Given the description of an element on the screen output the (x, y) to click on. 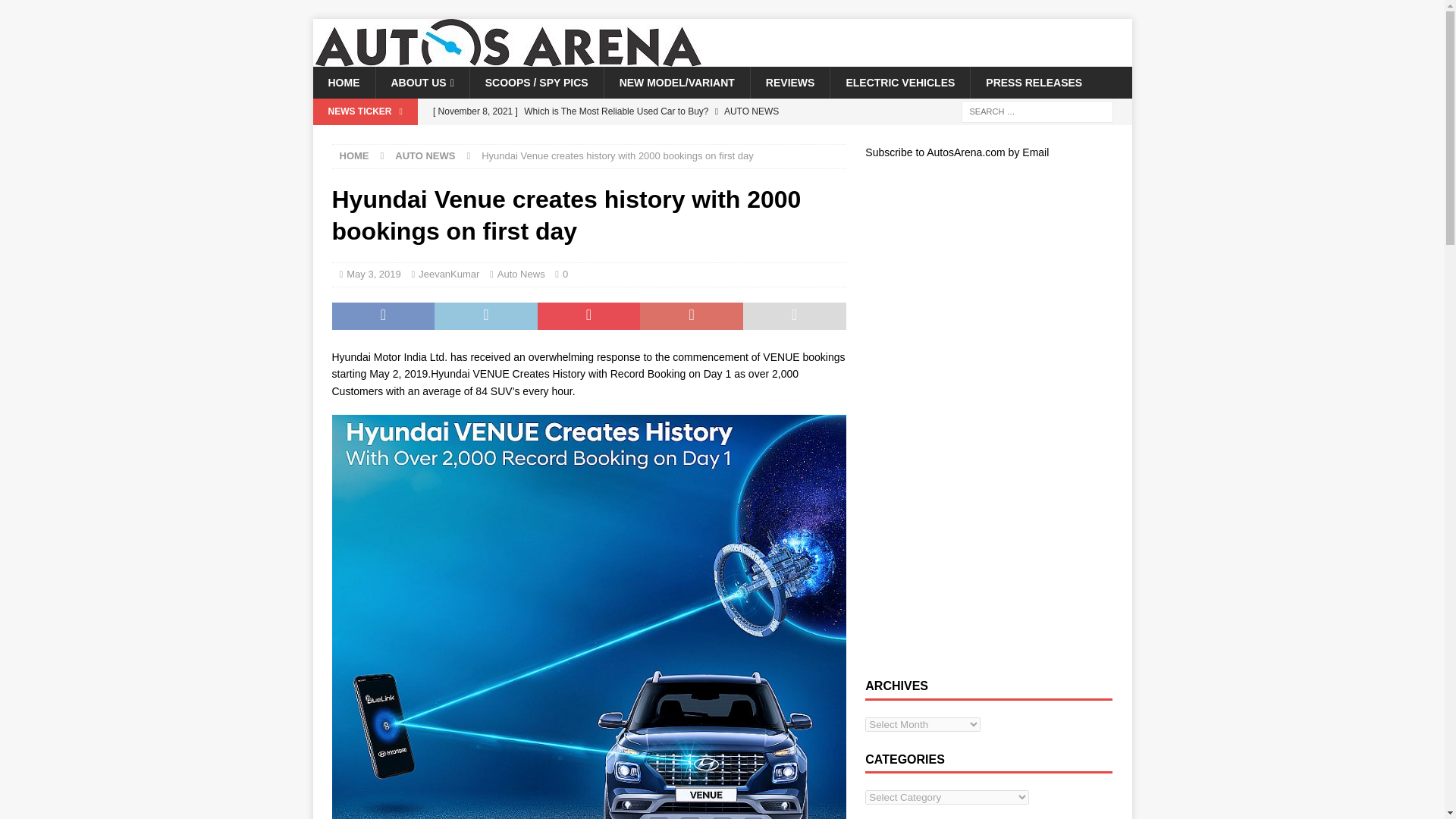
JeevanKumar (449, 274)
May 3, 2019 (373, 274)
REVIEWS (789, 82)
ABOUT US (421, 82)
HOME (343, 82)
ELECTRIC VEHICLES (899, 82)
Auto News (520, 274)
Search (56, 11)
HOME (354, 155)
Which is The Most Reliable Used Car to Buy? (634, 111)
